Given the description of an element on the screen output the (x, y) to click on. 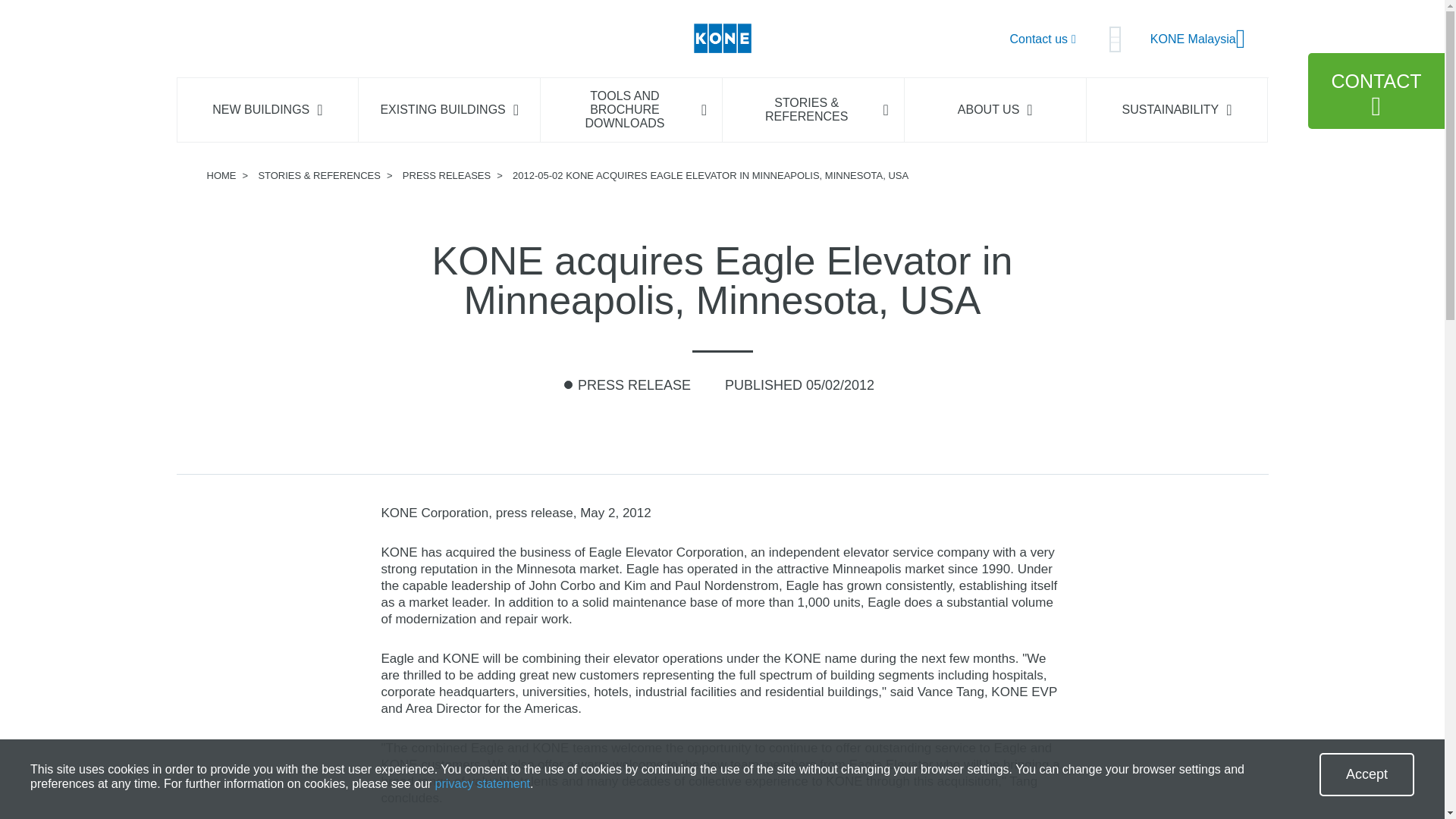
EXISTING BUILDINGS (449, 109)
Contact us (1042, 38)
Privacy Statement (482, 783)
NEW BUILDINGS (266, 109)
KONE Malaysia (1198, 38)
